Given the description of an element on the screen output the (x, y) to click on. 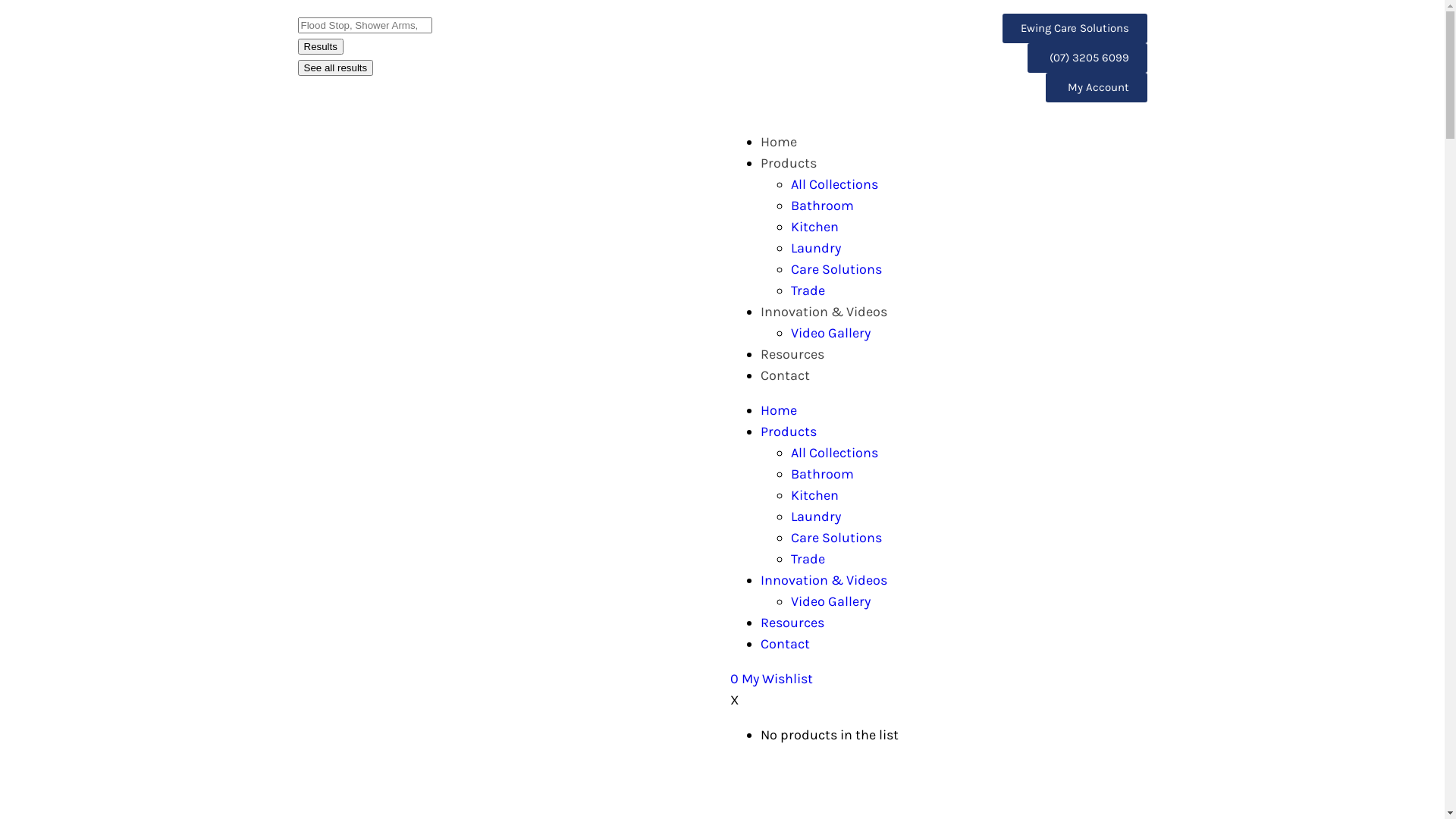
Kitchen Element type: text (813, 226)
Products Element type: text (787, 431)
Laundry Element type: text (815, 247)
Laundry Element type: text (815, 516)
Ewing Care Solutions Element type: text (1074, 28)
Home Element type: text (777, 141)
Results Element type: text (319, 46)
All Collections Element type: text (833, 452)
Trade Element type: text (807, 558)
Care Solutions Element type: text (835, 537)
Care Solutions Element type: text (835, 268)
Resources Element type: text (791, 622)
All Collections Element type: text (833, 183)
Video Gallery Element type: text (829, 332)
Contact Element type: text (784, 375)
Resources Element type: text (791, 353)
Innovation & Videos Element type: text (822, 579)
My Account Element type: text (1095, 87)
Video Gallery Element type: text (829, 601)
See all results Element type: text (335, 67)
Contact Element type: text (784, 643)
Innovation & Videos Element type: text (822, 311)
Bathroom Element type: text (821, 473)
Bathroom Element type: text (821, 205)
Products Element type: text (787, 162)
(07) 3205 6099 Element type: text (1086, 57)
0 My Wishlist Element type: text (770, 678)
Home Element type: text (777, 409)
Trade Element type: text (807, 290)
Kitchen Element type: text (813, 494)
